Given the description of an element on the screen output the (x, y) to click on. 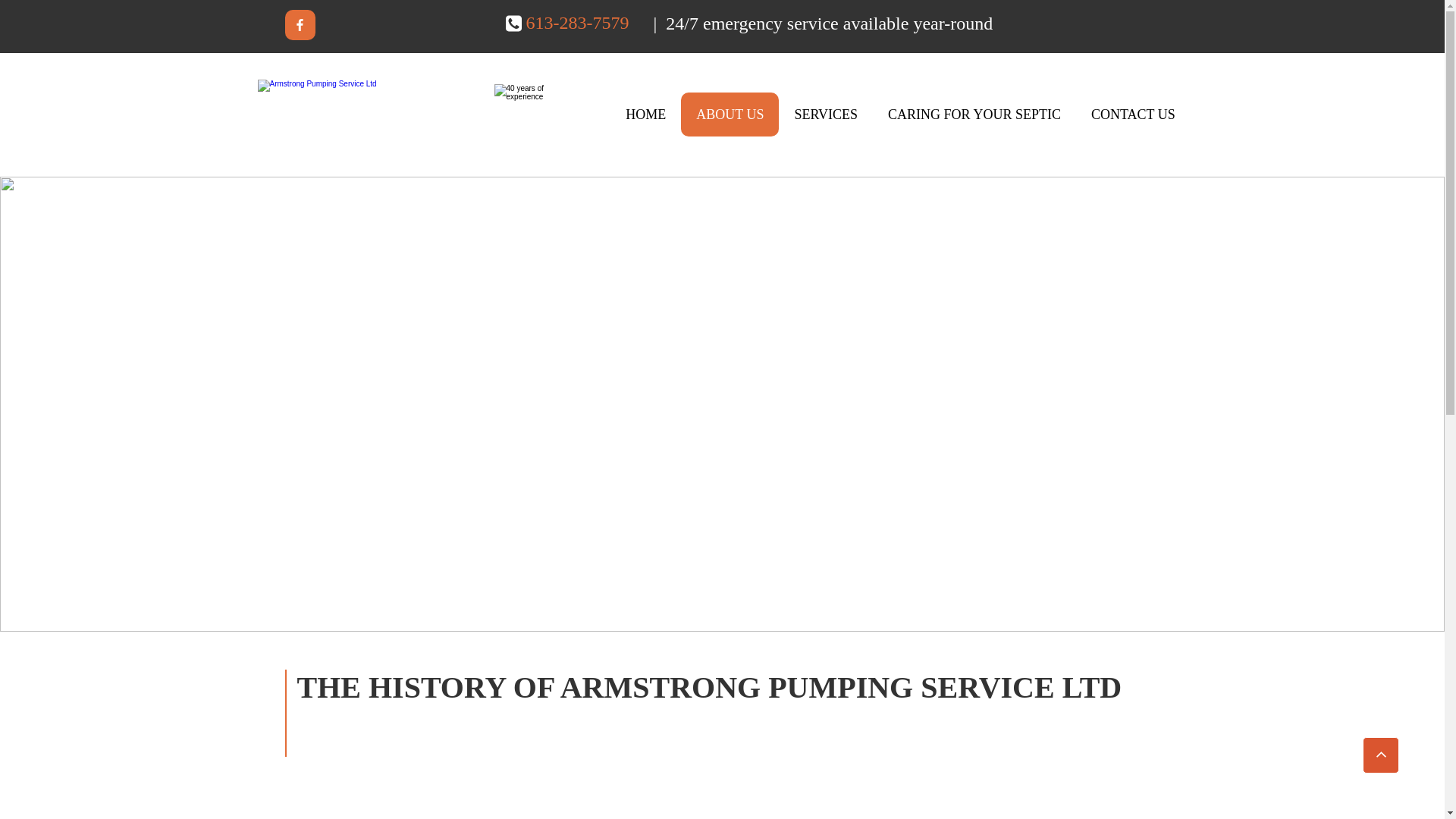
SERVICES Element type: text (825, 114)
ABOUT US Element type: text (729, 114)
613-283-7579 Element type: text (577, 25)
CARING FOR YOUR SEPTIC Element type: text (974, 114)
CONTACT US Element type: text (1133, 114)
HOME Element type: text (645, 114)
